Given the description of an element on the screen output the (x, y) to click on. 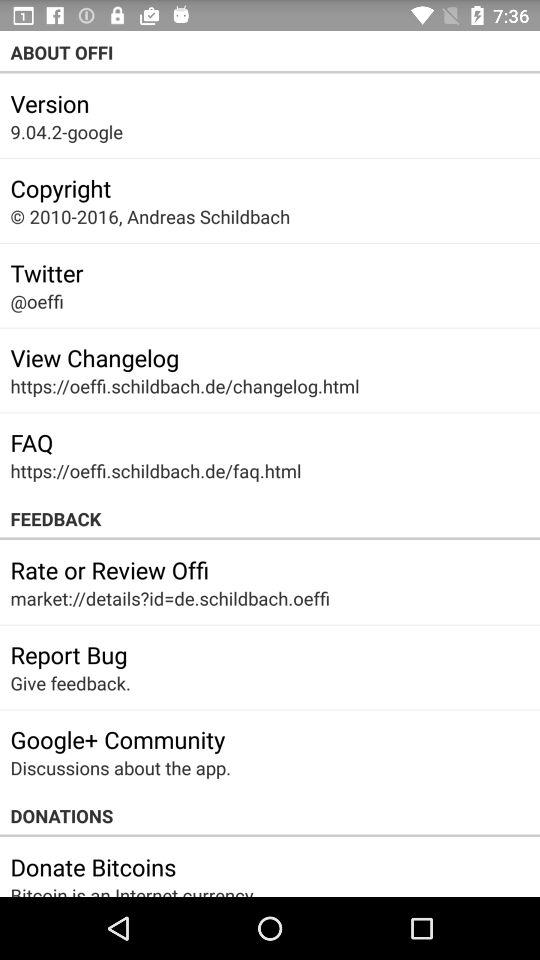
tap item above the donations (120, 767)
